Given the description of an element on the screen output the (x, y) to click on. 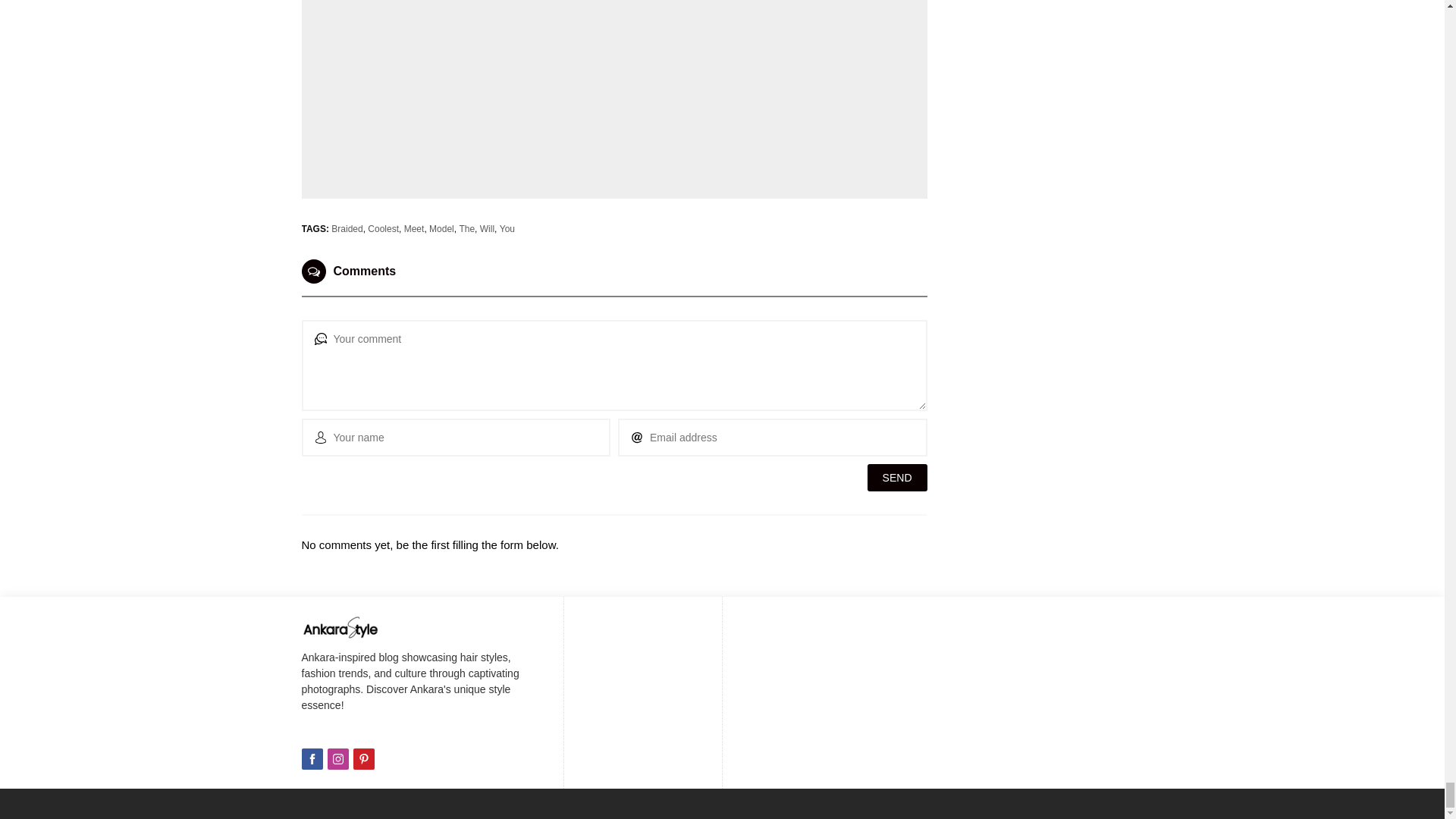
Will (487, 228)
Braided (346, 228)
The (466, 228)
Model (441, 228)
Send (897, 477)
Meet (414, 228)
You (507, 228)
Send (897, 477)
Coolest (383, 228)
